Given the description of an element on the screen output the (x, y) to click on. 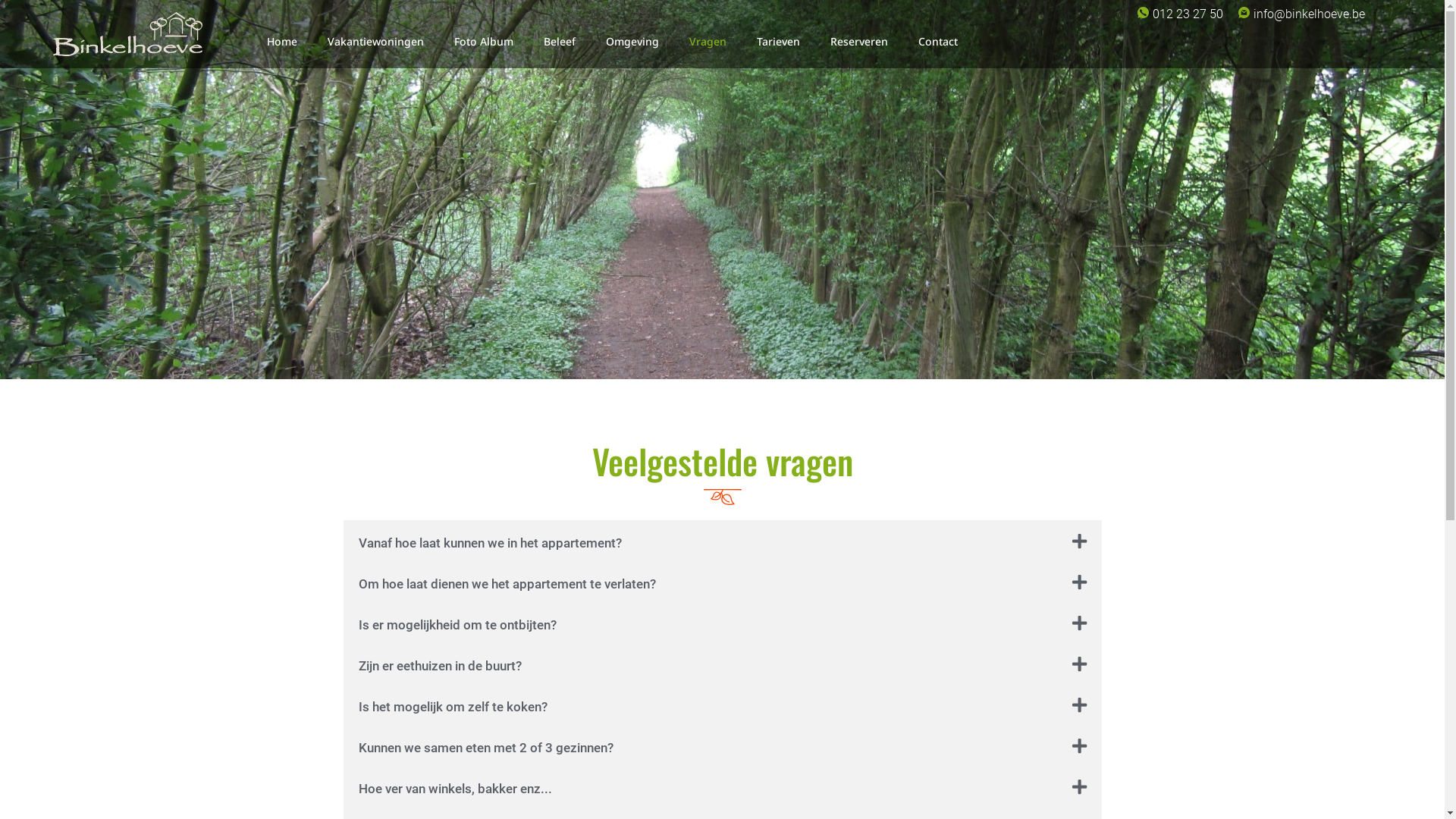
Home Element type: text (281, 41)
Vanaf hoe laat kunnen we in het appartement? Element type: text (489, 542)
Kunnen we samen eten met 2 of 3 gezinnen? Element type: text (484, 747)
Is het mogelijk om zelf te koken? Element type: text (451, 706)
Is er mogelijkheid om te ontbijten? Element type: text (456, 624)
Hoe ver van winkels, bakker enz... Element type: text (454, 788)
Reserveren Element type: text (859, 41)
Vakantiewoningen Element type: text (375, 41)
Contact Element type: text (937, 41)
Beleef Element type: text (559, 41)
Omgeving Element type: text (632, 41)
info@binkelhoeve.be Element type: text (1309, 13)
012 23 27 50 Element type: text (1187, 13)
Foto Album Element type: text (483, 41)
Vragen Element type: text (707, 41)
Zijn er eethuizen in de buurt? Element type: text (438, 665)
Om hoe laat dienen we het appartement te verlaten? Element type: text (506, 583)
Tarieven Element type: text (778, 41)
